Given the description of an element on the screen output the (x, y) to click on. 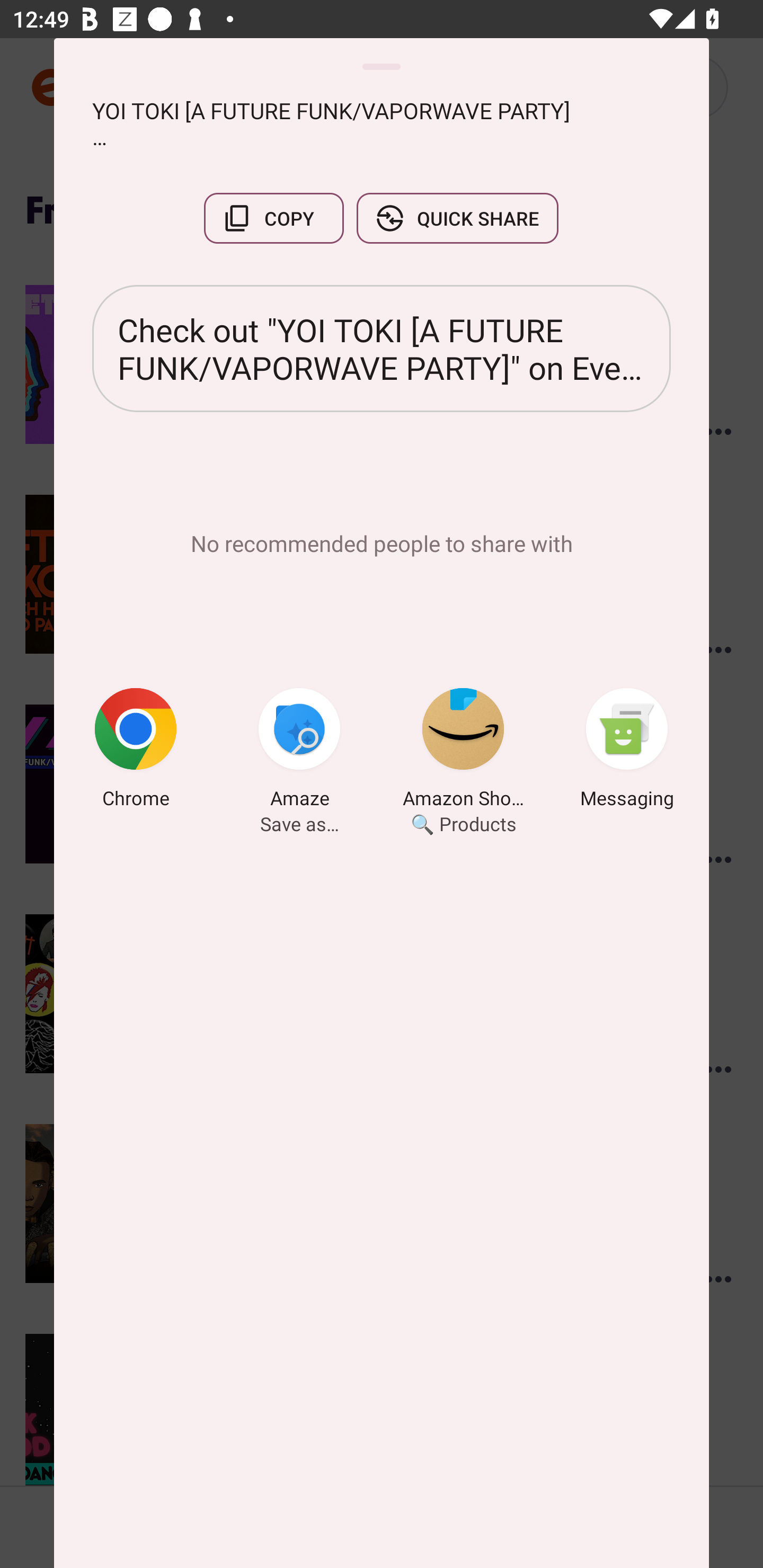
COPY (273, 218)
QUICK SHARE (457, 218)
Chrome (135, 751)
Amaze Save as… (299, 751)
Amazon Shopping 🔍 Products (463, 751)
Messaging (626, 751)
